Given the description of an element on the screen output the (x, y) to click on. 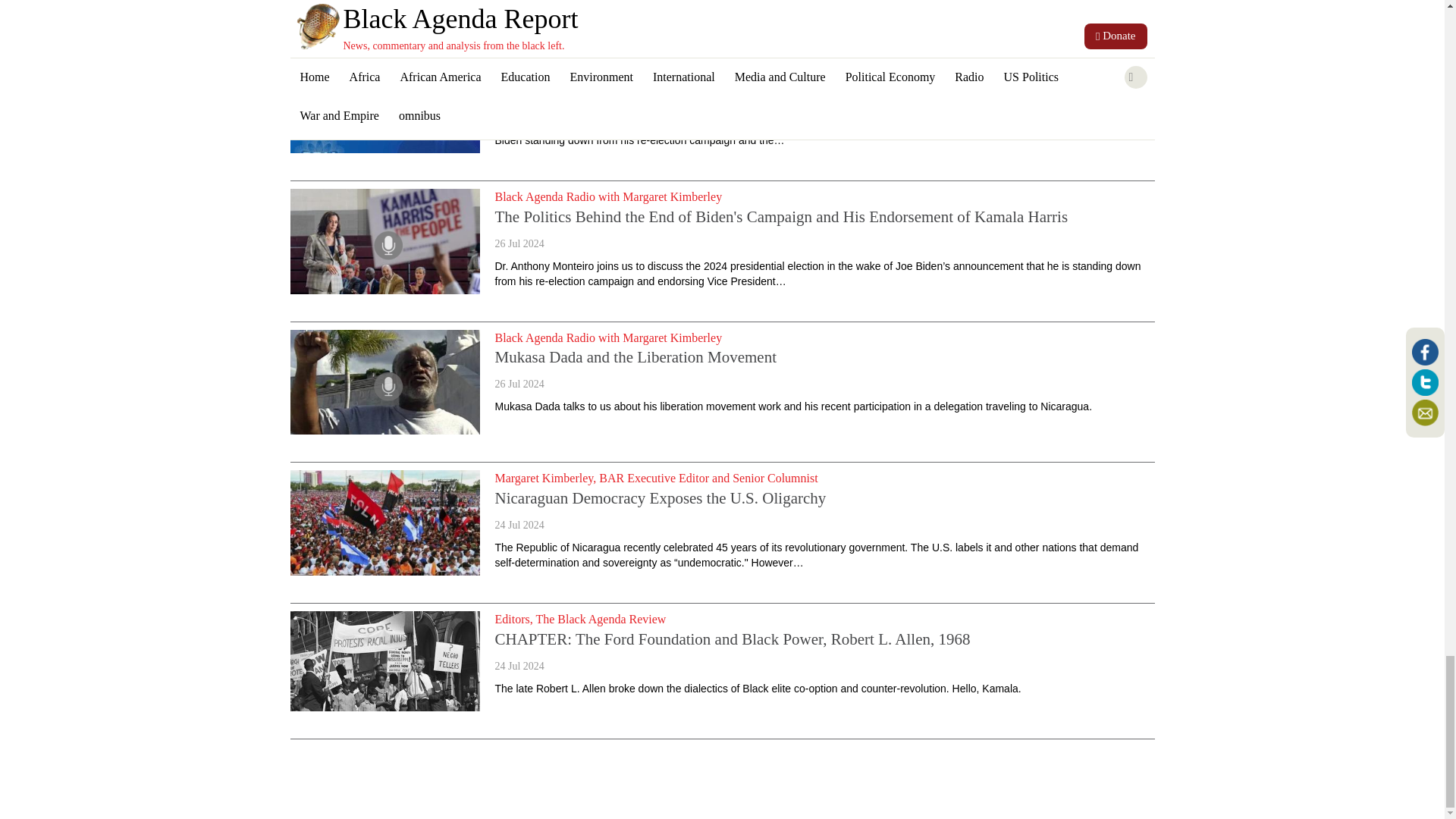
Go to next page (312, 793)
